Given the description of an element on the screen output the (x, y) to click on. 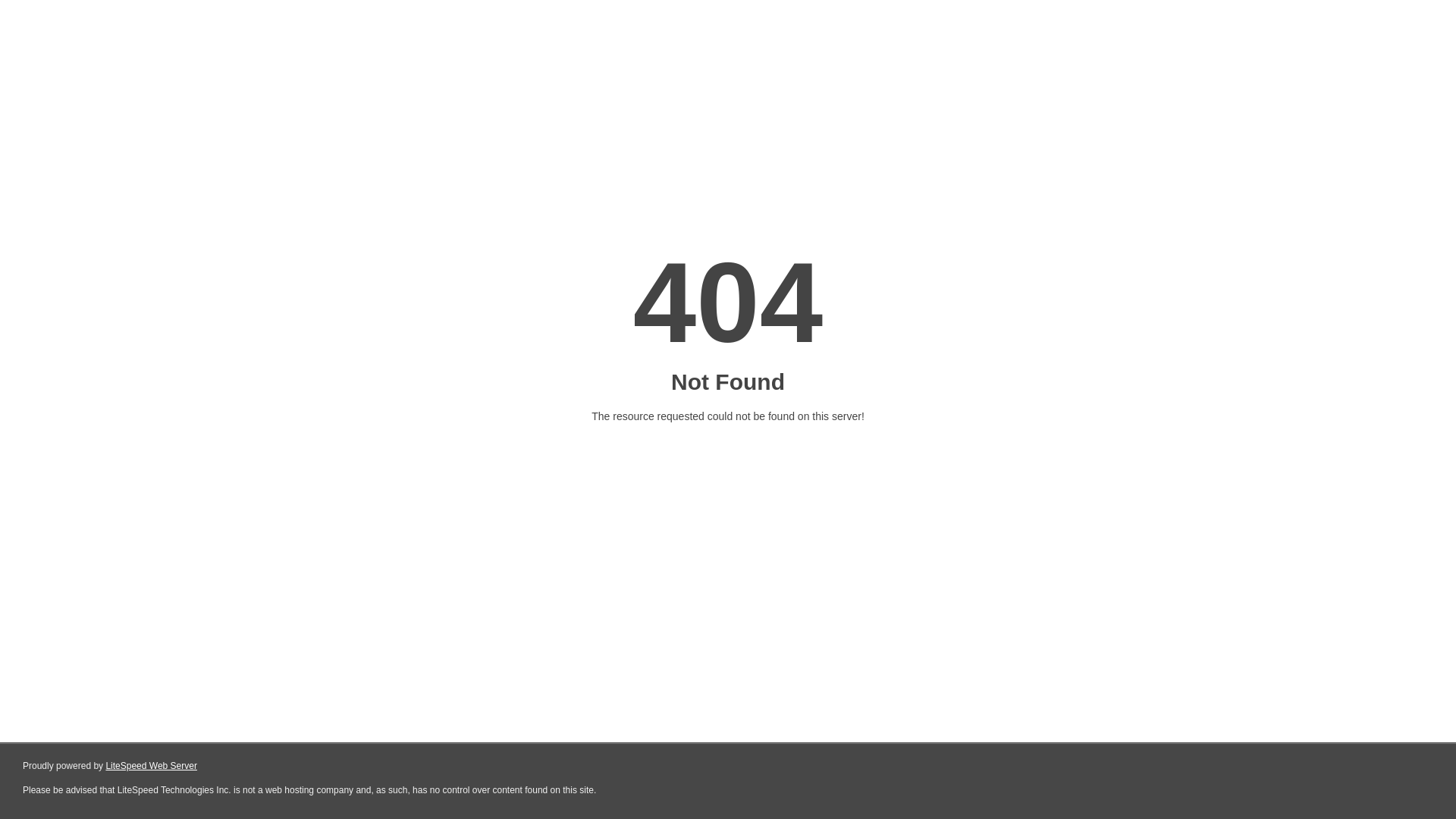
LiteSpeed Web Server Element type: text (151, 765)
